Given the description of an element on the screen output the (x, y) to click on. 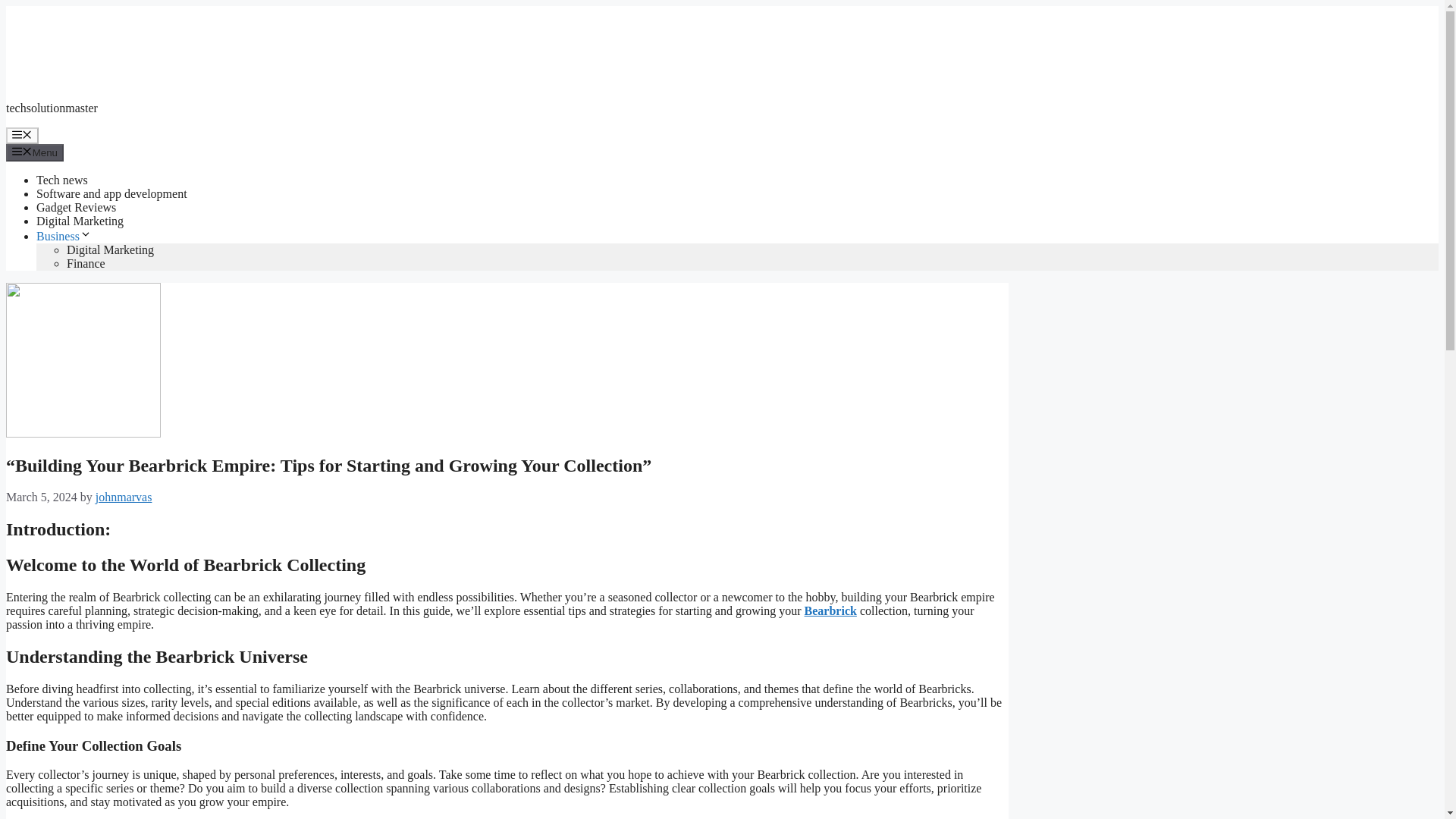
Digital Marketing (110, 249)
Business (63, 236)
Finance (85, 263)
Bearbrick (831, 610)
Digital Marketing (79, 220)
Gadget Reviews (76, 206)
Tech news (61, 179)
techsolutionmaster (51, 107)
johnmarvas (124, 496)
View all posts by johnmarvas (124, 496)
Menu (34, 152)
Menu (22, 135)
Software and app development (111, 193)
